Given the description of an element on the screen output the (x, y) to click on. 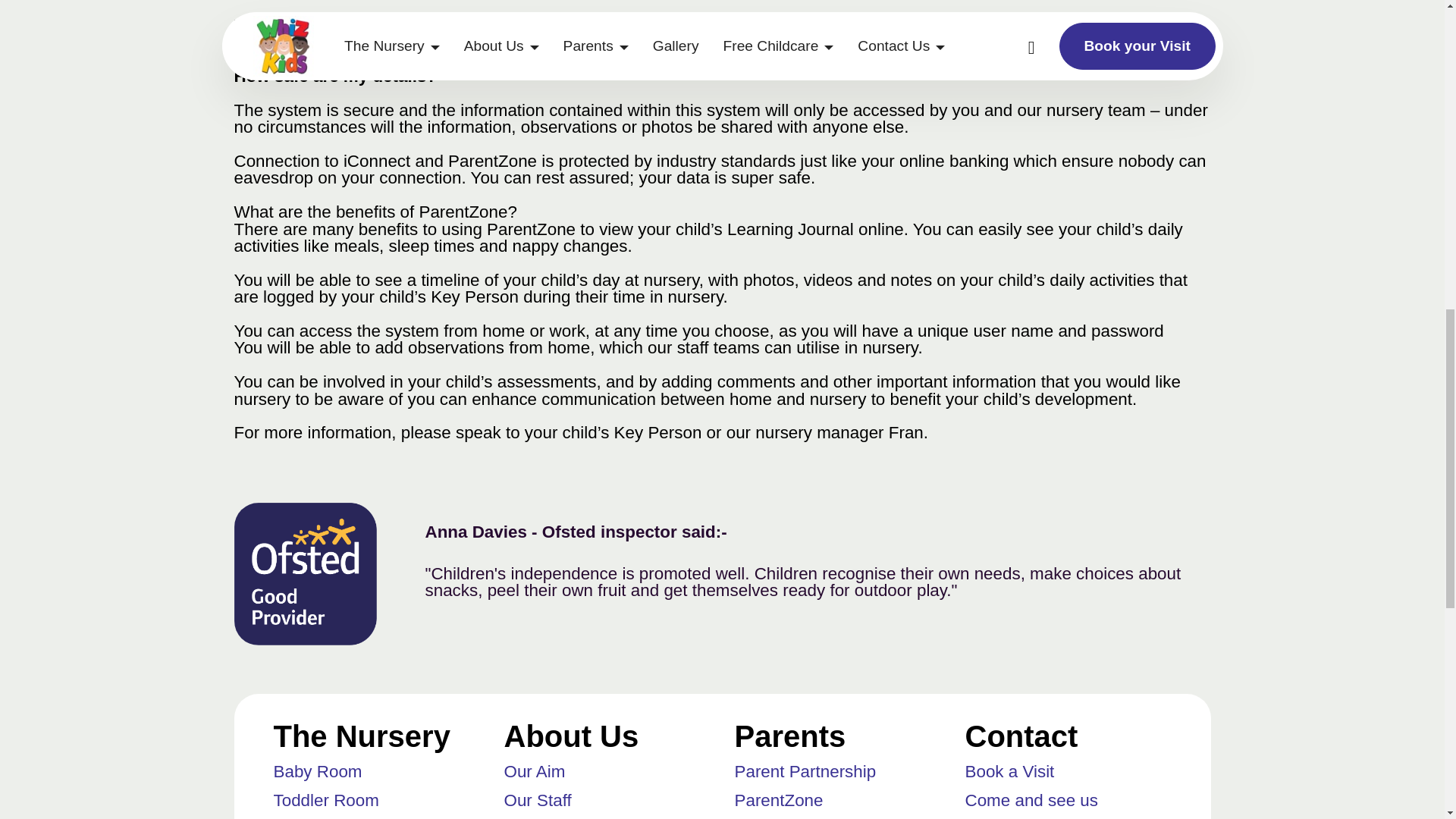
Baby Room (317, 771)
Toddler Room (325, 800)
